Given the description of an element on the screen output the (x, y) to click on. 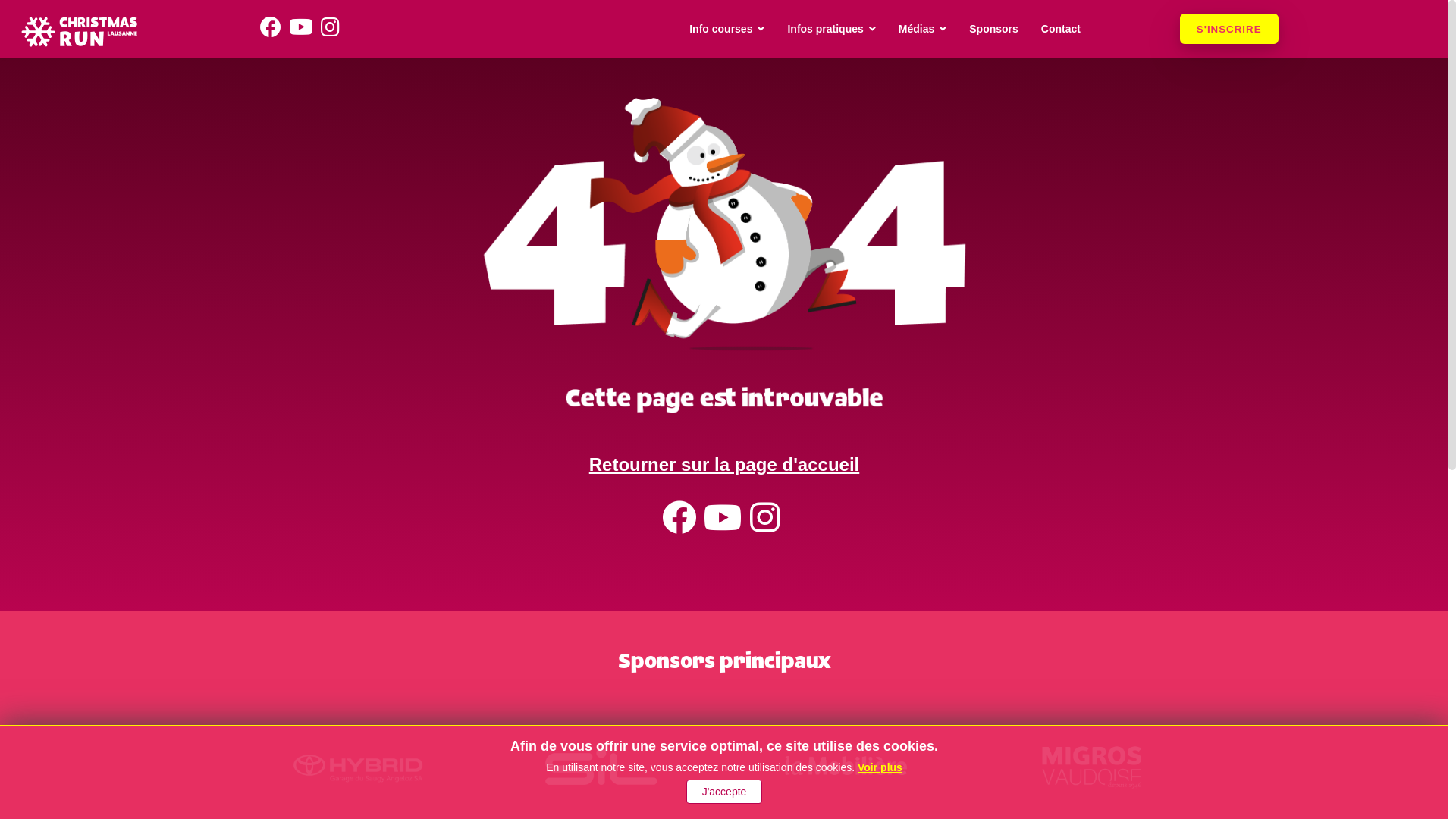
garage Element type: hover (356, 767)
Accueil Christmas Run Lausanne Element type: hover (79, 31)
facebook Element type: hover (274, 26)
Retourner sur la page d'accueil Element type: text (724, 464)
instagram Element type: hover (767, 526)
Voir plus Element type: text (879, 767)
mobiliere Element type: hover (845, 767)
youtube Element type: hover (726, 526)
S'INSCRIRE Element type: text (1228, 28)
facebook Element type: hover (681, 526)
sil Element type: hover (601, 767)
Contact Element type: text (1060, 28)
instagram Element type: hover (333, 26)
migros Element type: hover (1090, 767)
youtube Element type: hover (304, 26)
Sponsors Element type: text (993, 28)
Erreur 404: cette page est introuvable Element type: hover (723, 253)
